Given the description of an element on the screen output the (x, y) to click on. 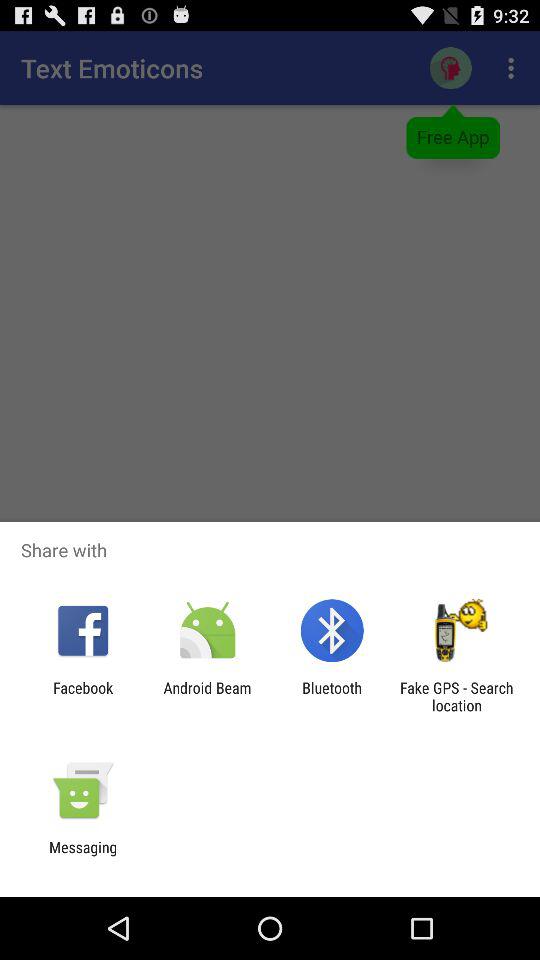
scroll until fake gps search item (456, 696)
